Given the description of an element on the screen output the (x, y) to click on. 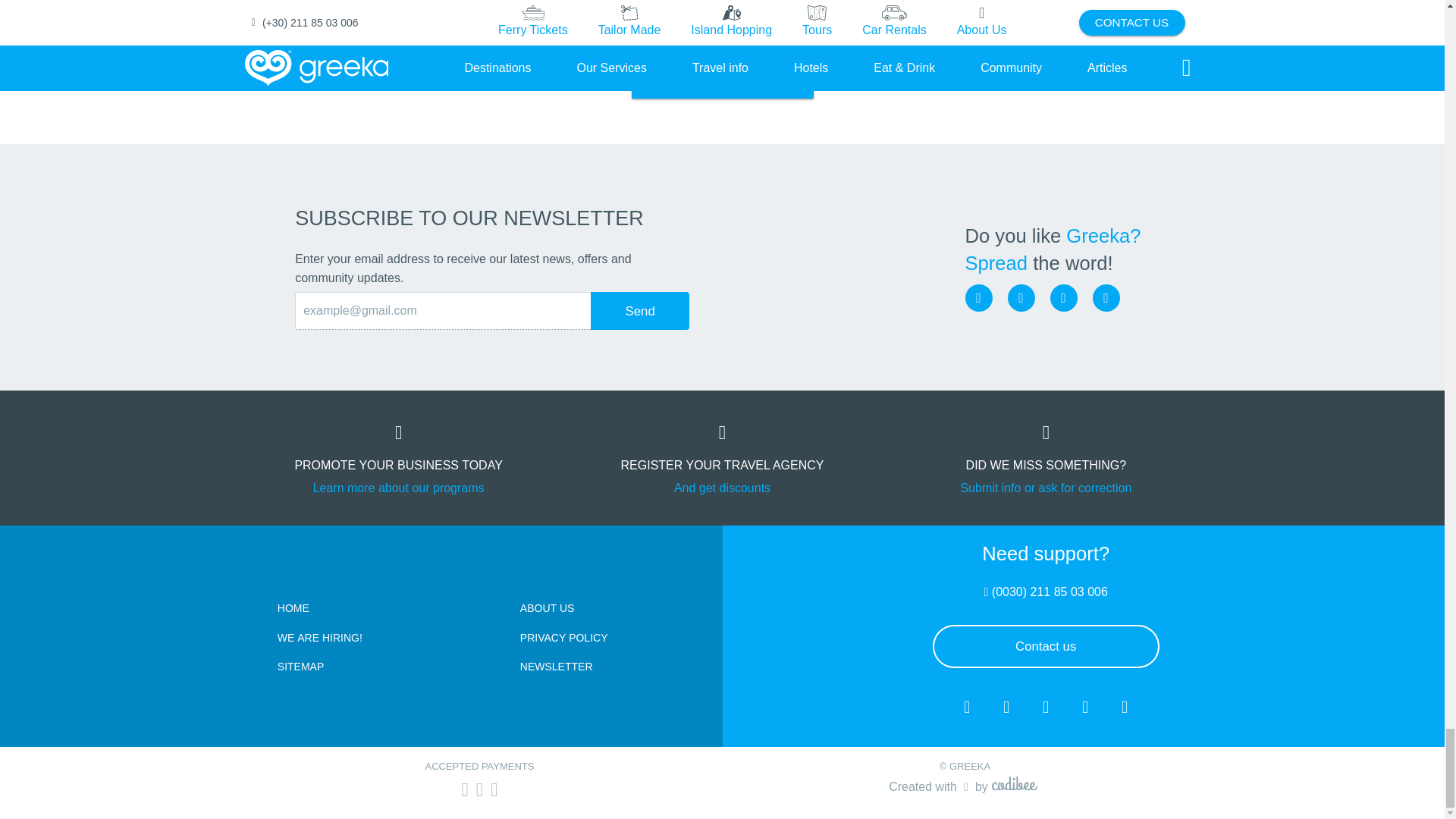
Send (639, 310)
